Given the description of an element on the screen output the (x, y) to click on. 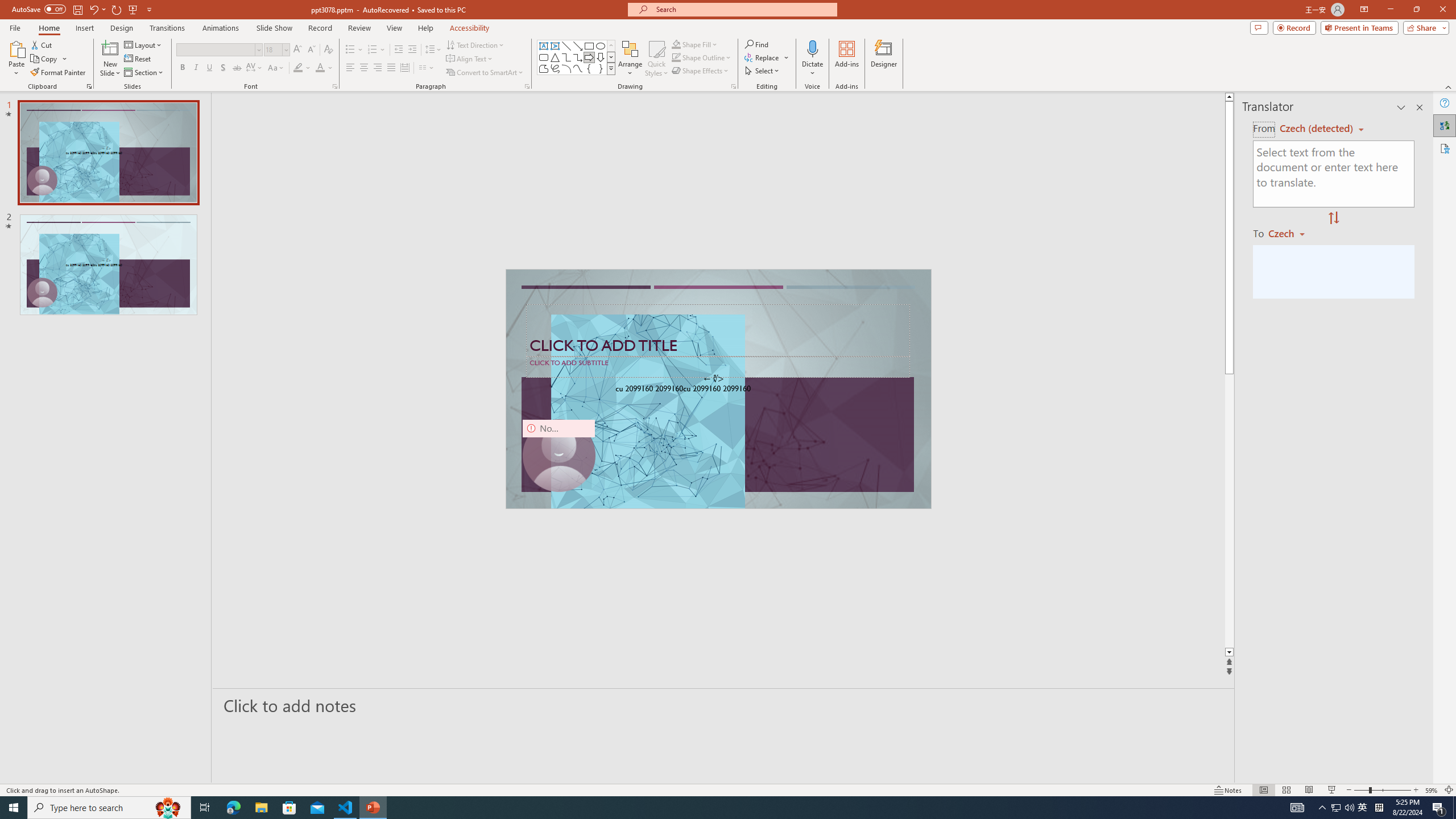
An abstract genetic concept (718, 388)
